Given the description of an element on the screen output the (x, y) to click on. 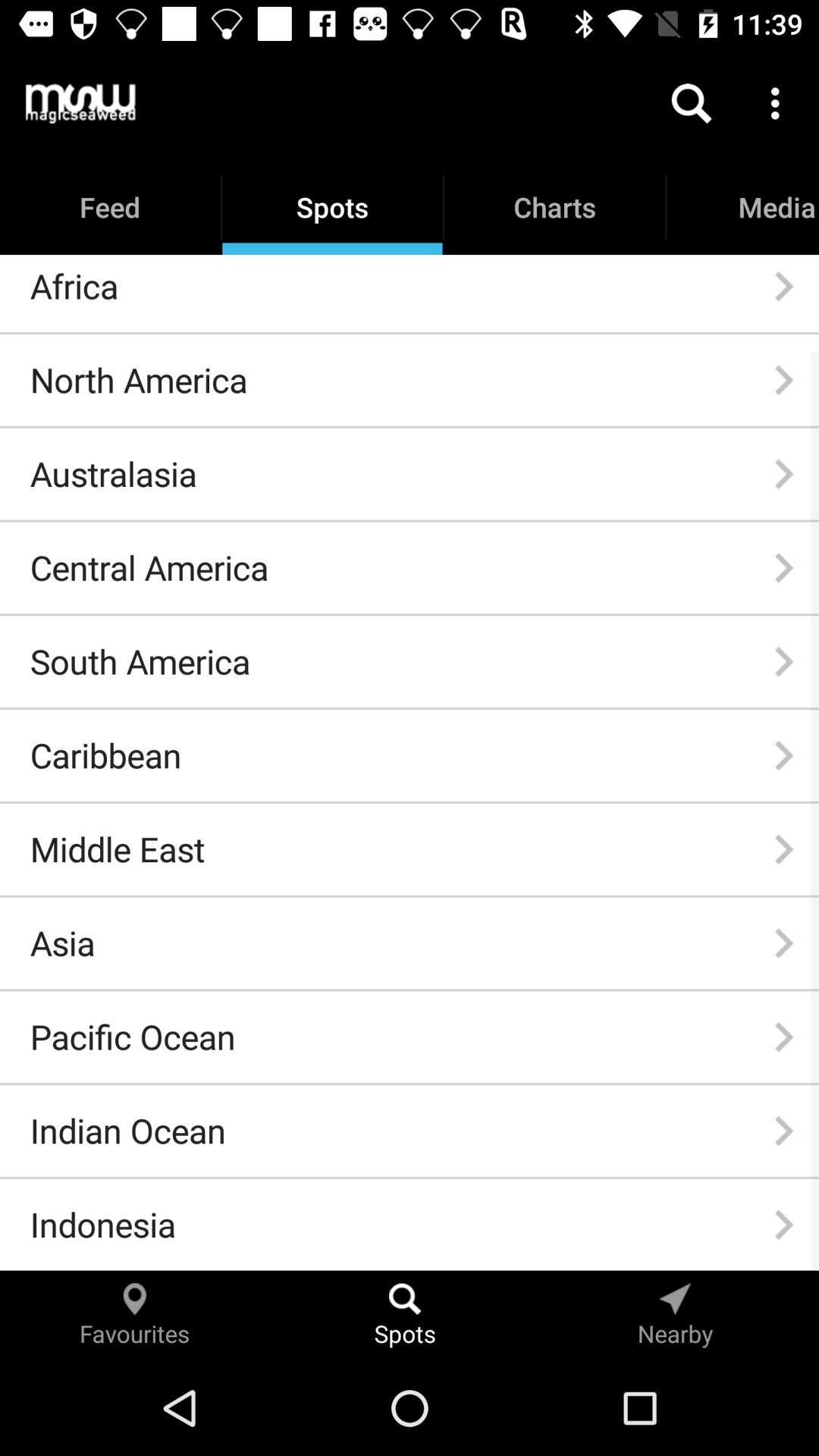
turn off icon to the right of australasia item (784, 474)
